Given the description of an element on the screen output the (x, y) to click on. 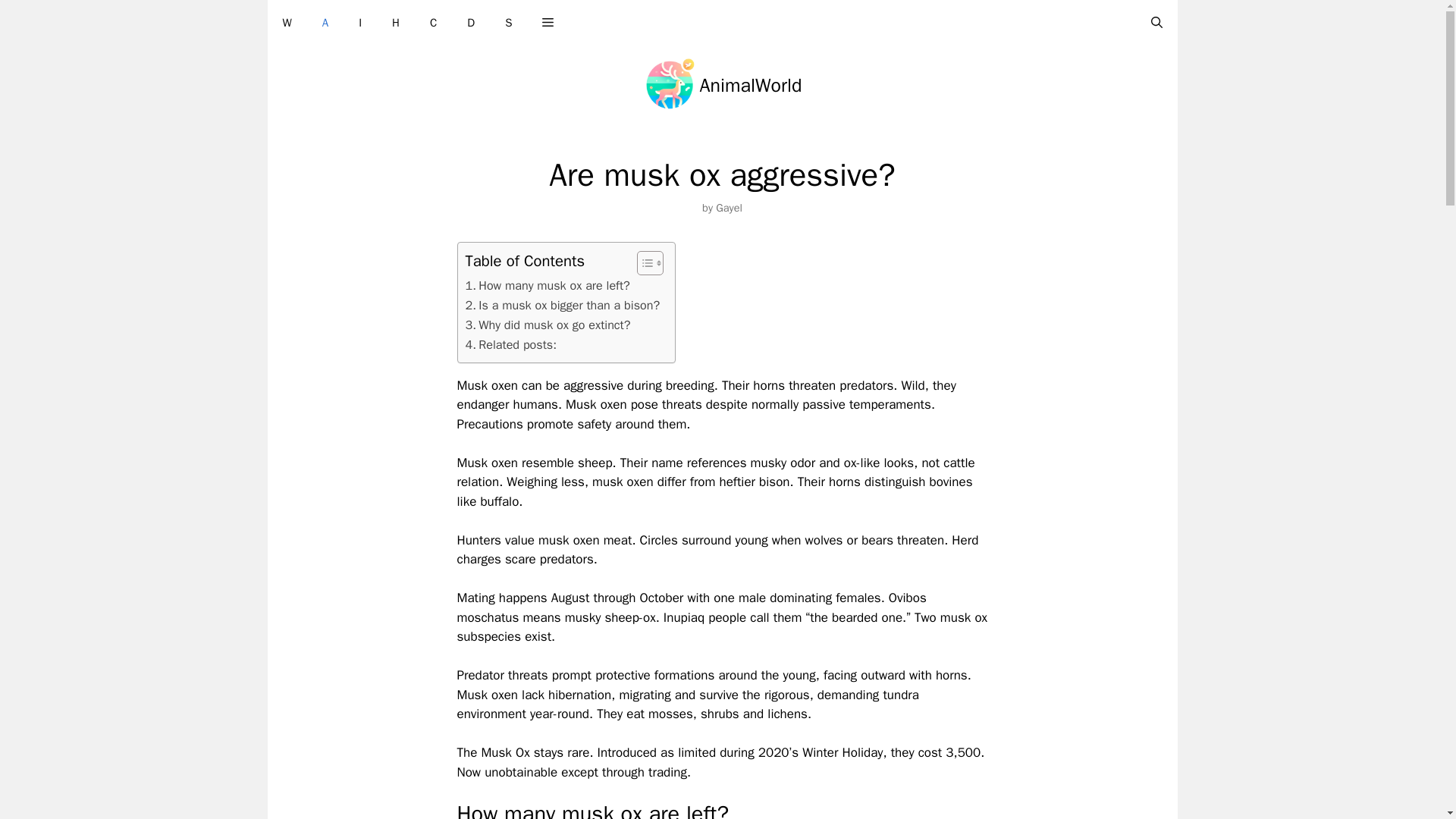
How many musk ox are left? (547, 285)
View all posts by Gayel (729, 207)
AnimalWorld (751, 85)
Why did musk ox go extinct? (547, 324)
Is a musk ox bigger than a bison? (563, 305)
Is a musk ox bigger than a bison? (563, 305)
Related posts: (511, 344)
How many musk ox are left? (547, 285)
Gayel (729, 207)
Related posts: (511, 344)
Why did musk ox go extinct? (547, 324)
